Given the description of an element on the screen output the (x, y) to click on. 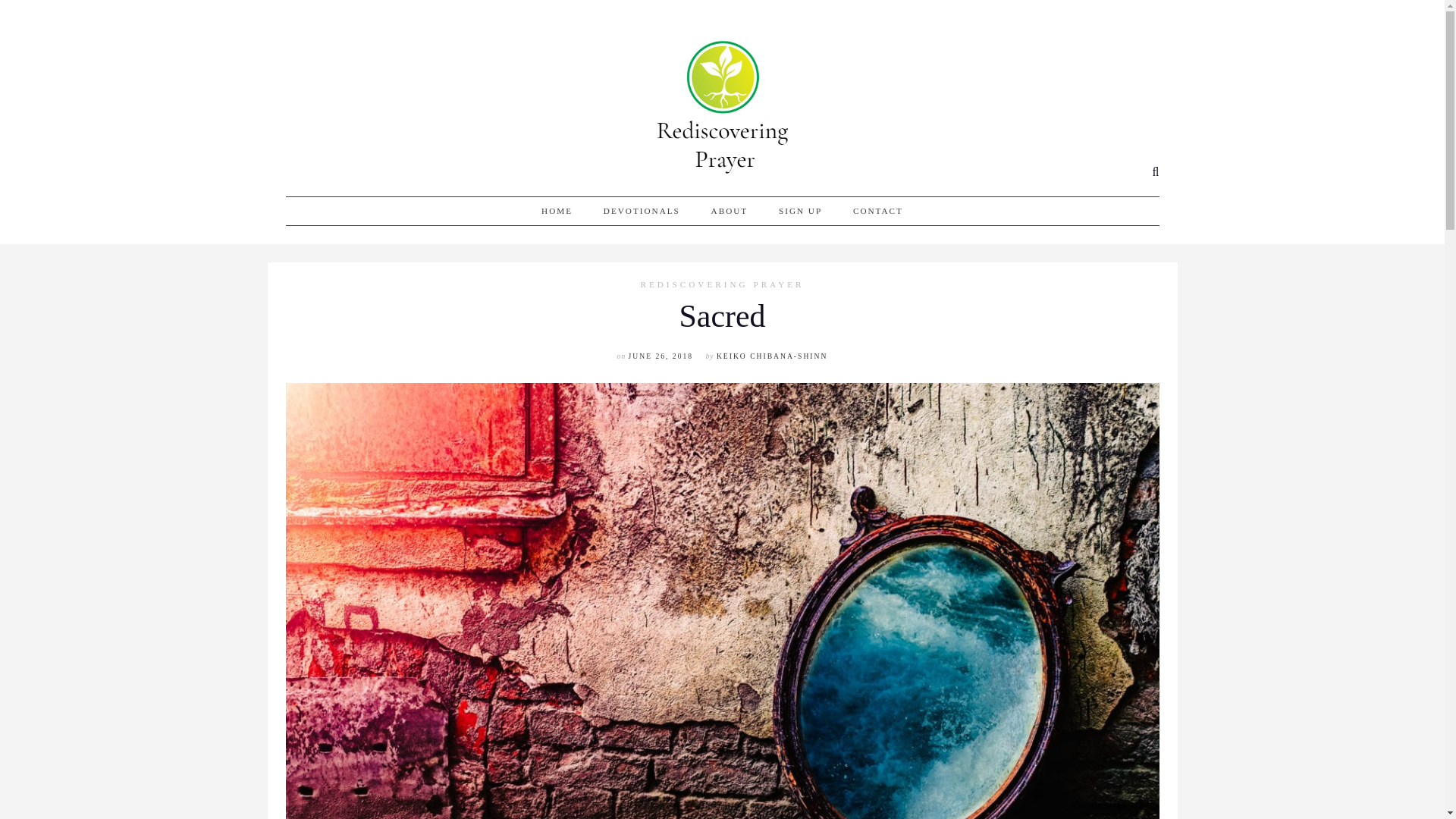
KEIKO CHIBANA-SHINN (771, 356)
REDISCOVERING PRAYER (721, 285)
ABOUT (729, 211)
HOME (556, 211)
SIGN UP (800, 211)
DEVOTIONALS (641, 211)
CONTACT (877, 211)
